Given the description of an element on the screen output the (x, y) to click on. 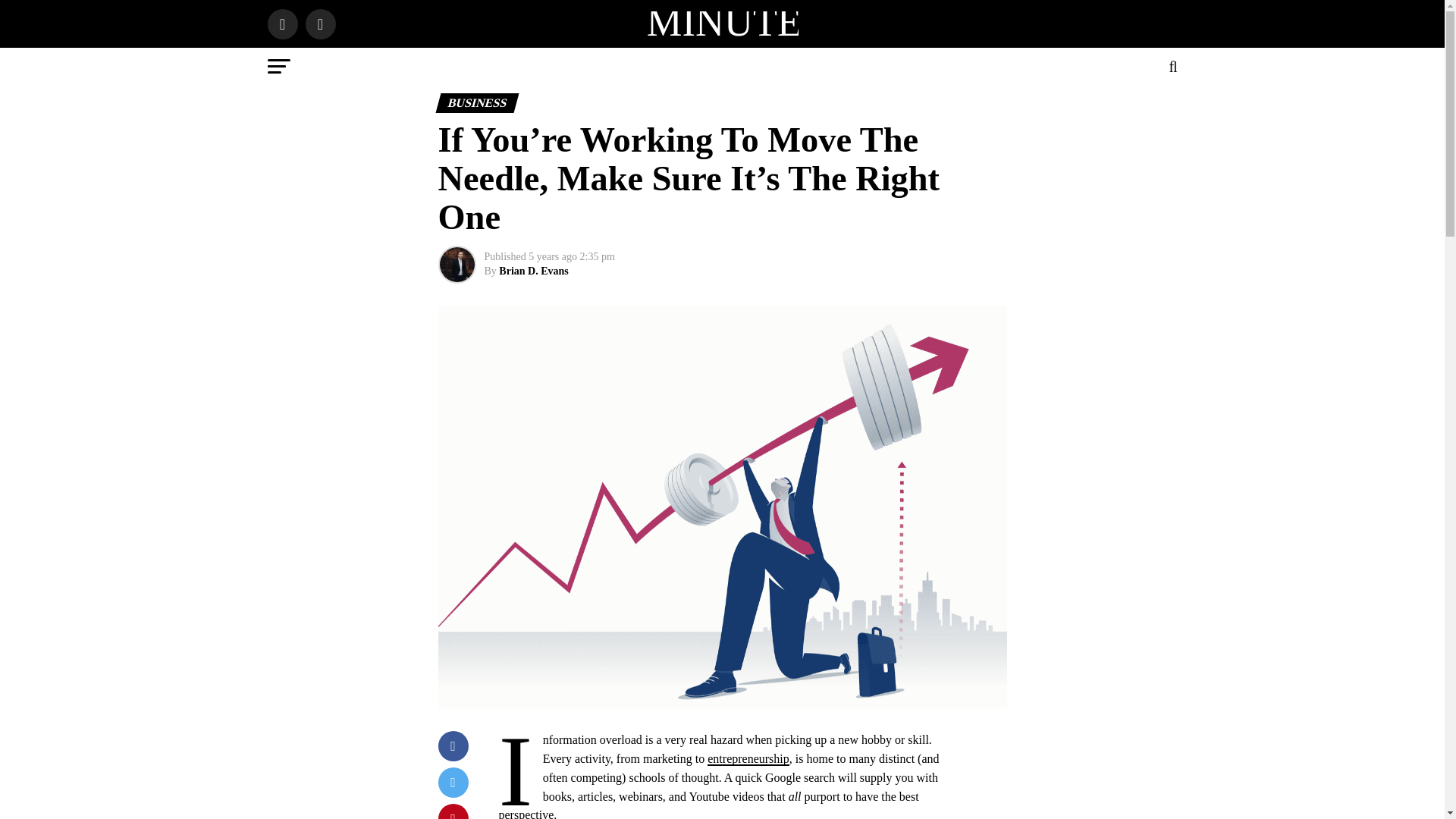
Posts by Brian D. Evans (533, 270)
Brian D. Evans (533, 270)
entrepreneurship (748, 758)
